Given the description of an element on the screen output the (x, y) to click on. 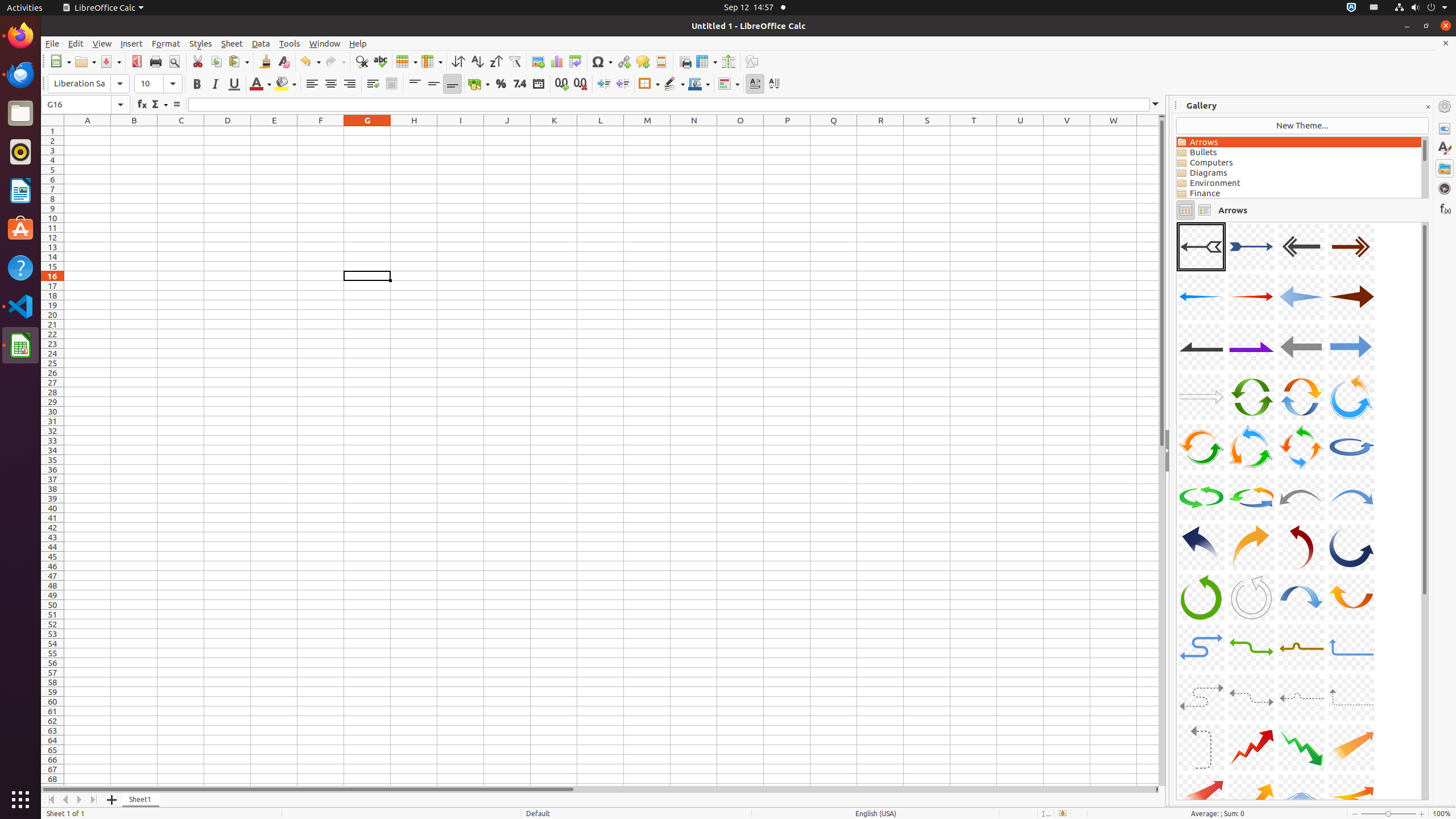
System Element type: menu (1420, 7)
A19-CircleArrow Element type: list-item (1300, 446)
Styles Element type: menu (200, 43)
A30-CurvedArrow-Gray Element type: list-item (1250, 596)
W1 Element type: table-cell (1113, 130)
